Given the description of an element on the screen output the (x, y) to click on. 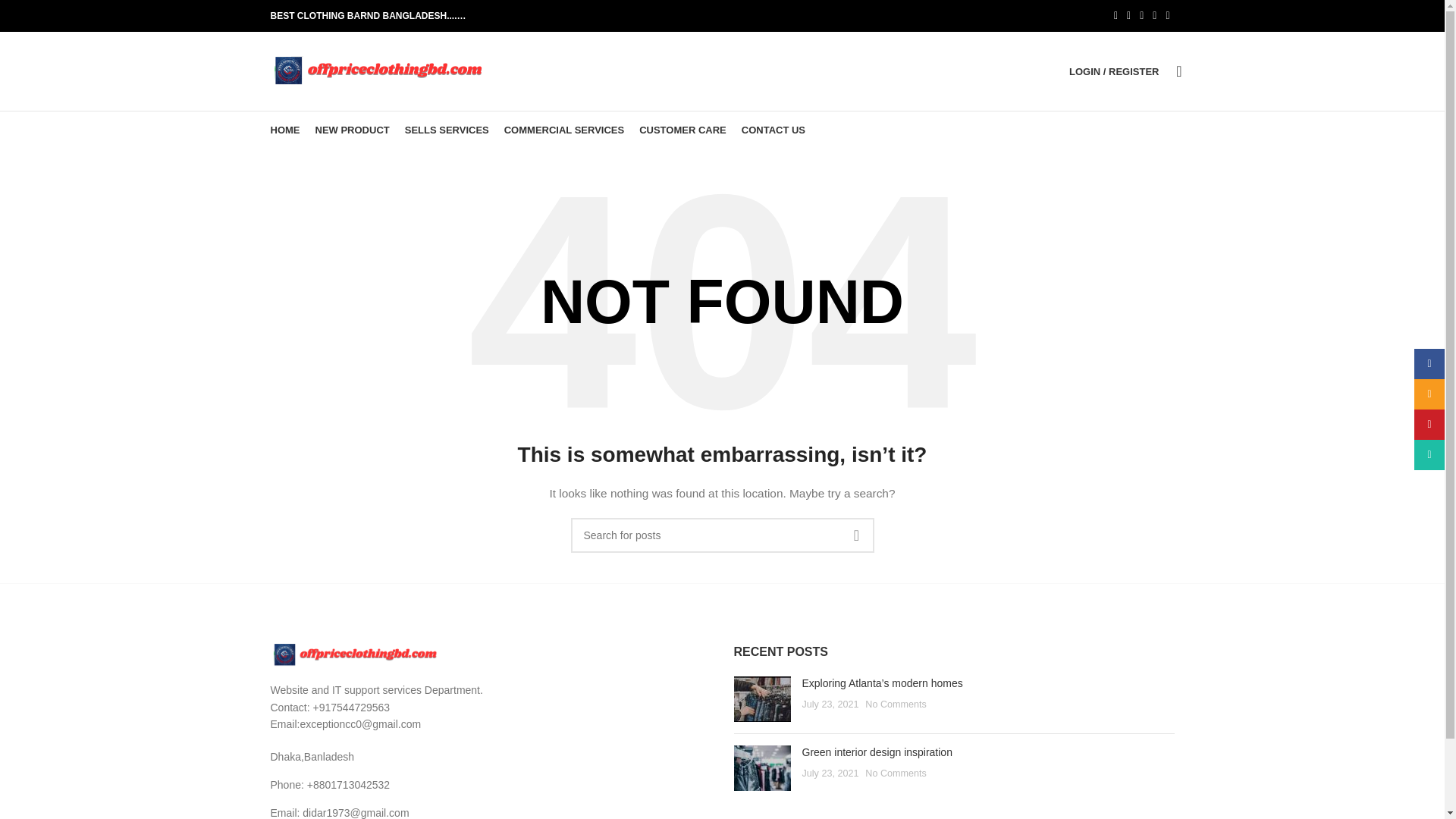
HOME (284, 130)
SELLS SERVICES (446, 130)
Log in (1034, 312)
NEW PRODUCT (352, 130)
No Comments (895, 773)
Permalink to Green interior design inspiration (877, 752)
COMMERCIAL SERVICES (563, 130)
My account (1113, 71)
CONTACT US (773, 130)
Green interior design inspiration (877, 752)
